Given the description of an element on the screen output the (x, y) to click on. 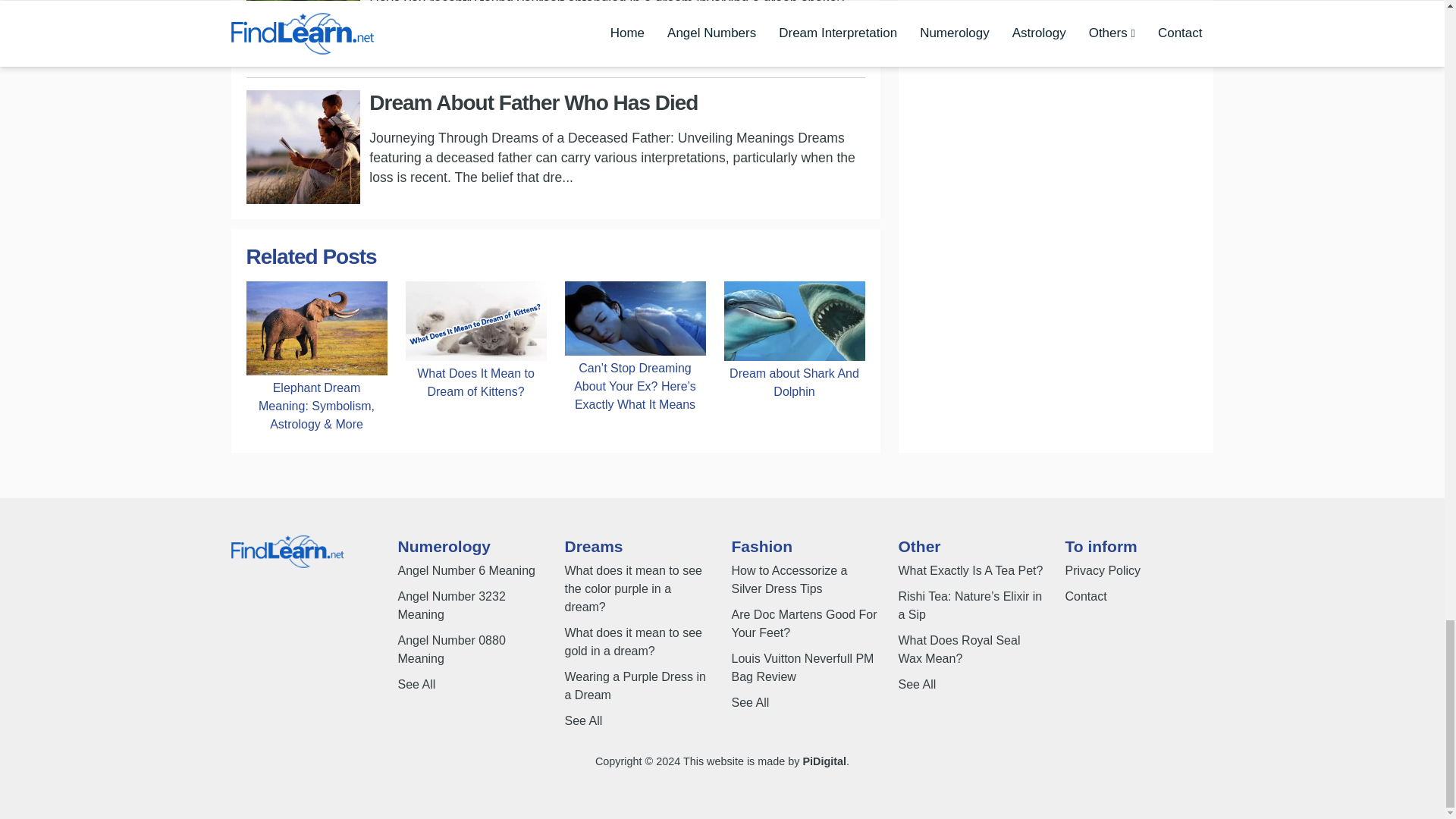
What Does It Mean to Dream of Kittens? (475, 382)
Dream about Shark And Dolphin (793, 382)
